Given the description of an element on the screen output the (x, y) to click on. 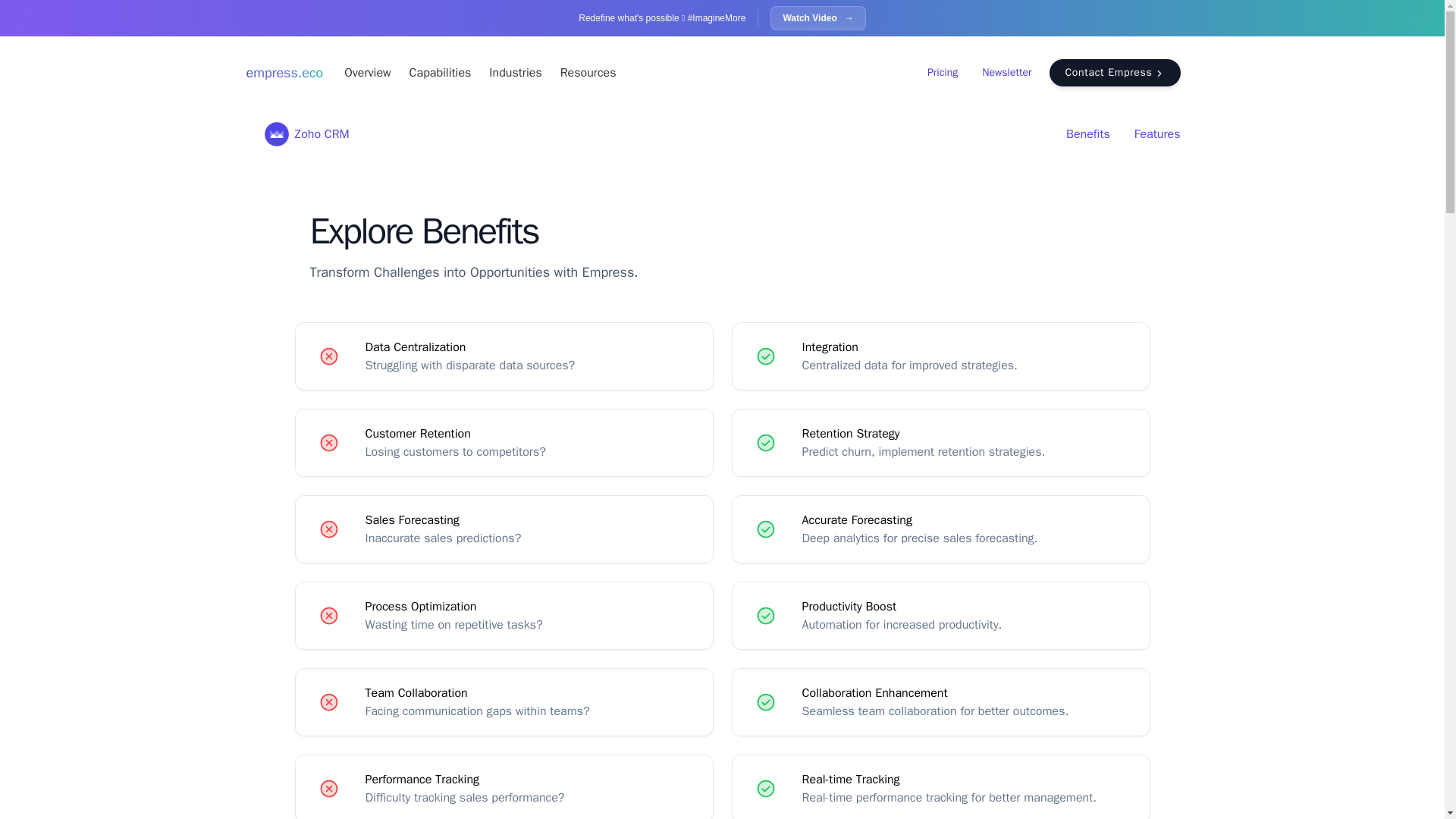
Capabilities (440, 72)
Industries (515, 72)
Play Video (817, 17)
Resources (587, 72)
Newsletter (1005, 72)
Overview (366, 72)
Pricing (942, 72)
empress.eco (284, 72)
